Given the description of an element on the screen output the (x, y) to click on. 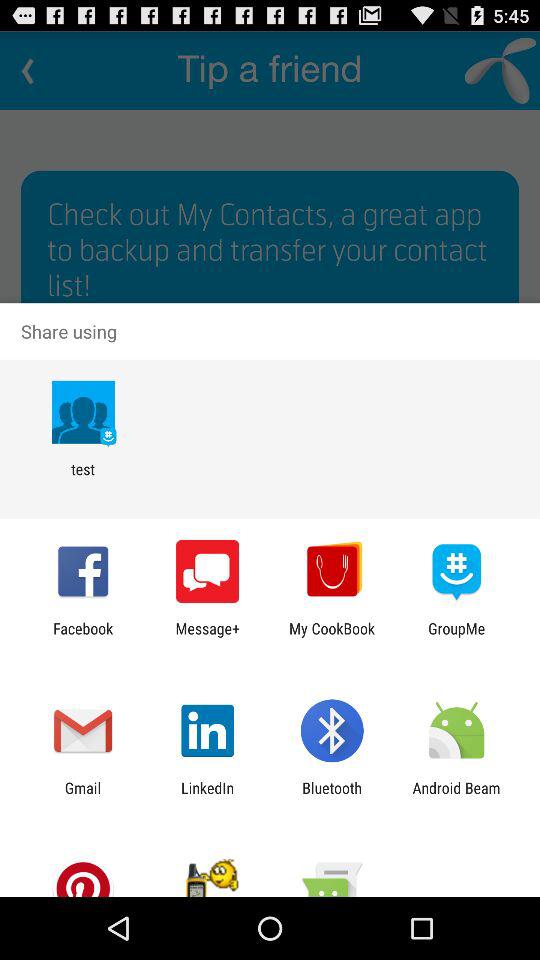
open icon to the left of my cookbook (207, 637)
